Given the description of an element on the screen output the (x, y) to click on. 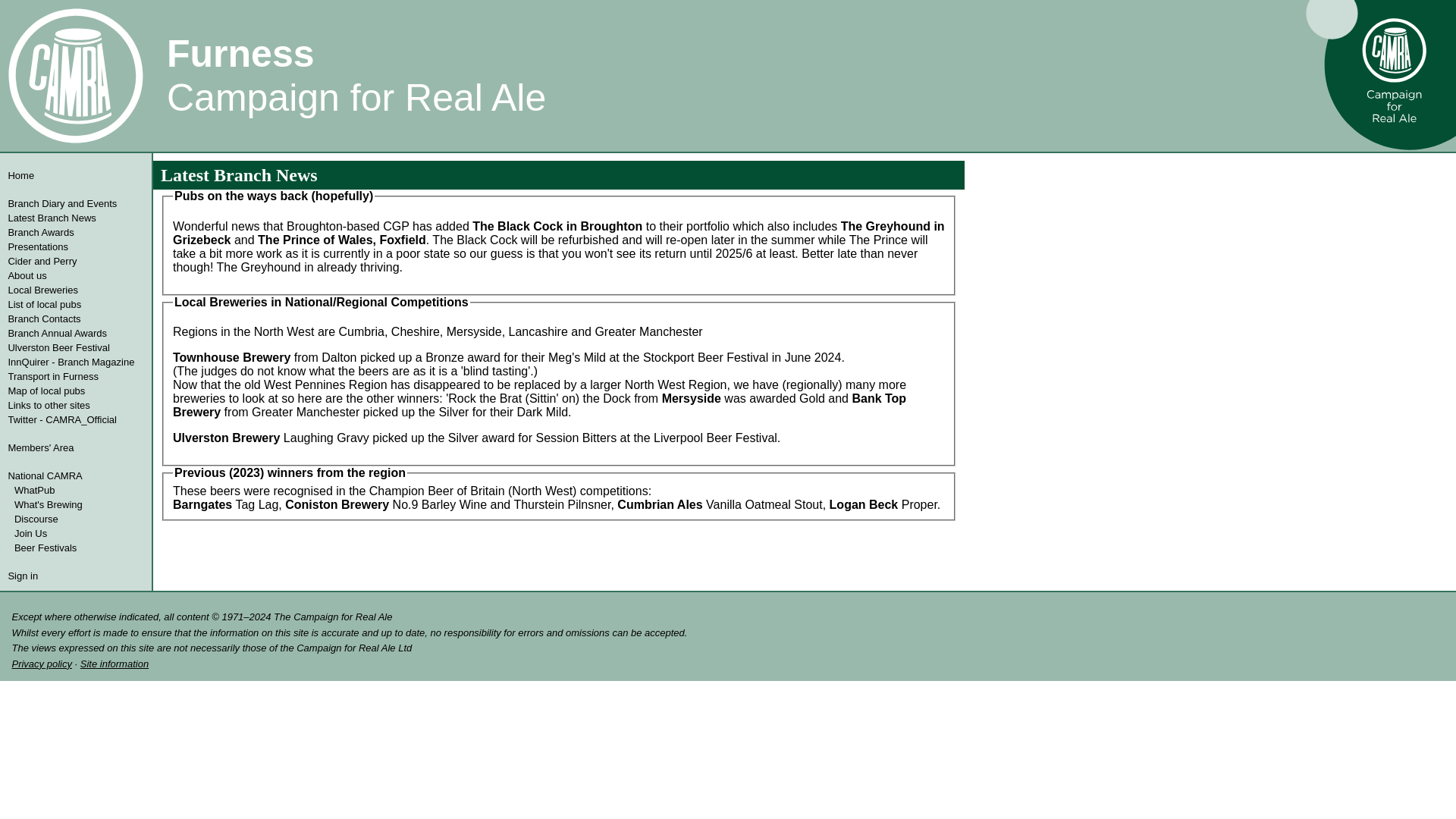
List of local pubs (74, 304)
Privacy policy (41, 663)
The national CAMRA site (74, 475)
Transport in Furness (74, 376)
Discourse (75, 518)
WhatPub - CAMRA's national pub guide (75, 490)
Beer Festivals (75, 547)
What's Brewing (75, 504)
Resources for CAMRA members (74, 447)
Cider and Perry (74, 260)
Members' Area (74, 447)
Branch Awards (74, 232)
Join Us (75, 533)
Home (74, 175)
About us (74, 275)
